Given the description of an element on the screen output the (x, y) to click on. 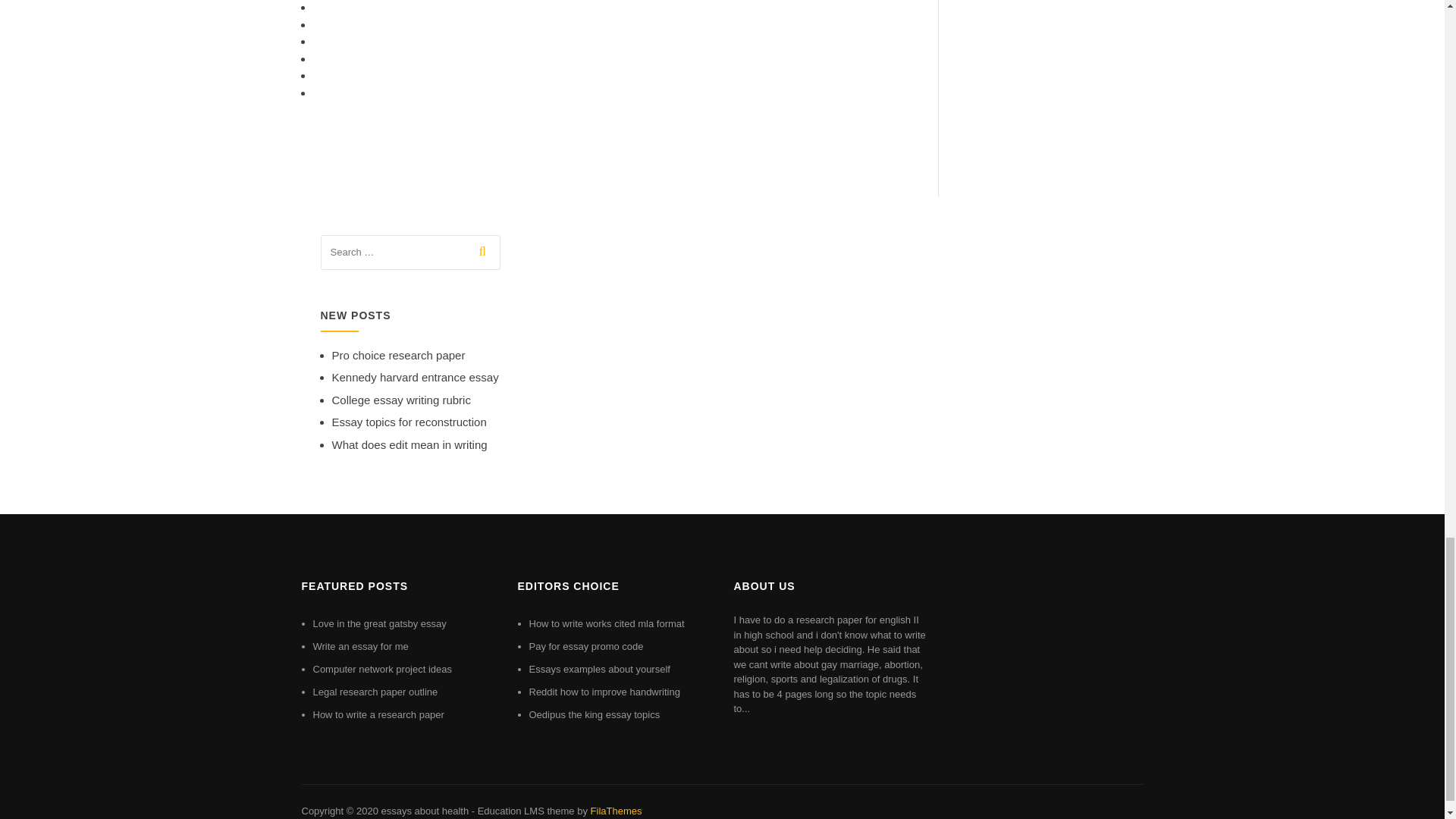
Essay topics for reconstruction (408, 421)
How to write works cited mla format (606, 623)
essays about health (424, 810)
What does edit mean in writing (409, 444)
Oedipus the king essay topics (595, 714)
Reddit how to improve handwriting (604, 691)
College essay writing rubric (400, 399)
Write an essay for me (360, 645)
Kennedy harvard entrance essay (415, 377)
Essays examples about yourself (599, 668)
Legal research paper outline (375, 691)
Pro choice research paper (398, 354)
How to write a research paper (378, 714)
Love in the great gatsby essay (379, 623)
essays about health (424, 810)
